Given the description of an element on the screen output the (x, y) to click on. 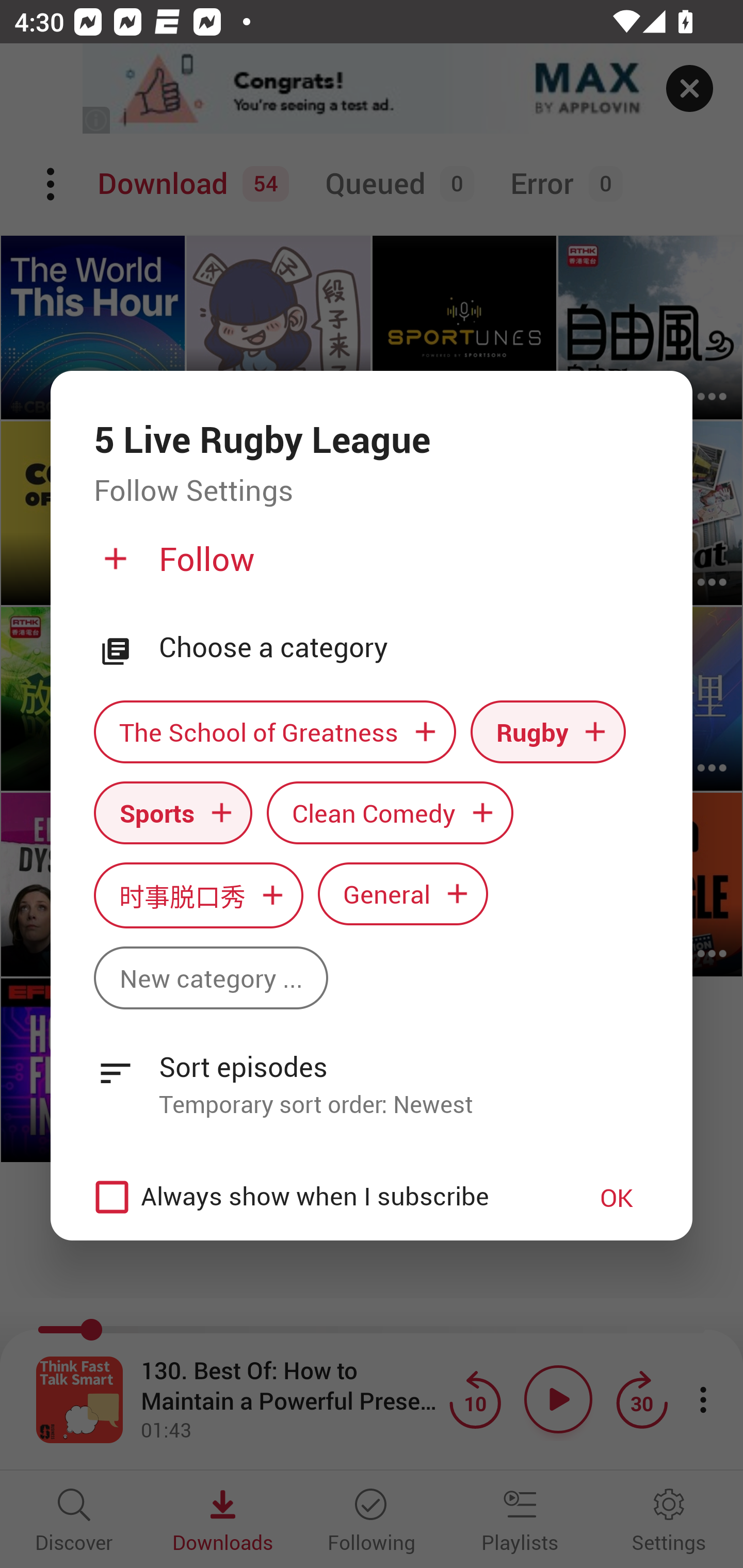
Follow (369, 566)
Choose a category (404, 647)
The School of Greatness (274, 731)
Rugby (547, 731)
Sports (172, 811)
Clean Comedy (389, 811)
时事脱口秀 (198, 895)
General (403, 893)
New category ... (210, 978)
Sort episodes Temporary sort order: Newest (371, 1073)
OK (616, 1197)
Always show when I subscribe (320, 1197)
